Given the description of an element on the screen output the (x, y) to click on. 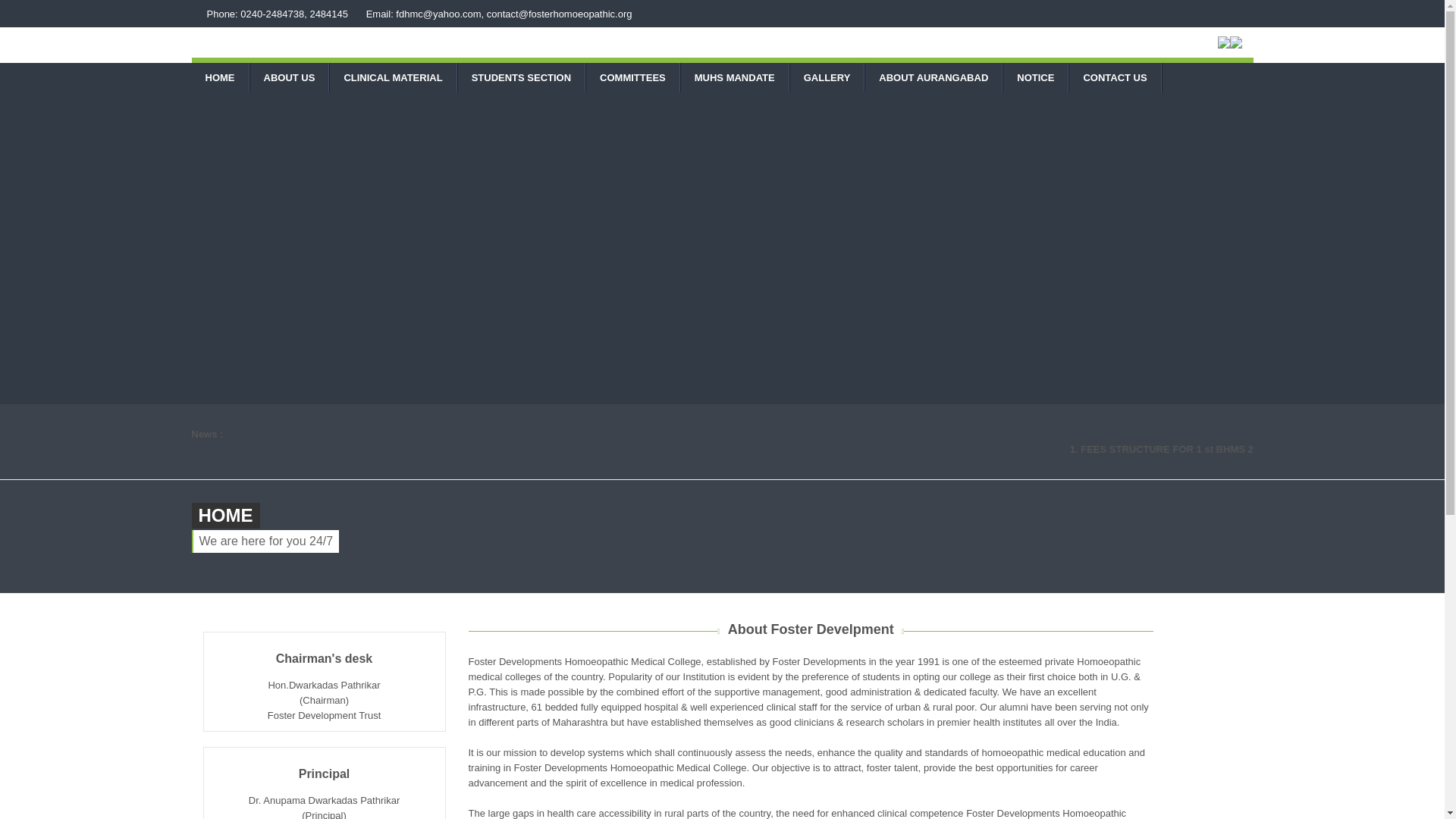
ABOUT US (289, 77)
STUDENTS SECTION (521, 77)
MUHS MANDATE (735, 77)
HOME (218, 77)
CLINICAL MATERIAL (392, 77)
COMMITTEES (632, 77)
